Given the description of an element on the screen output the (x, y) to click on. 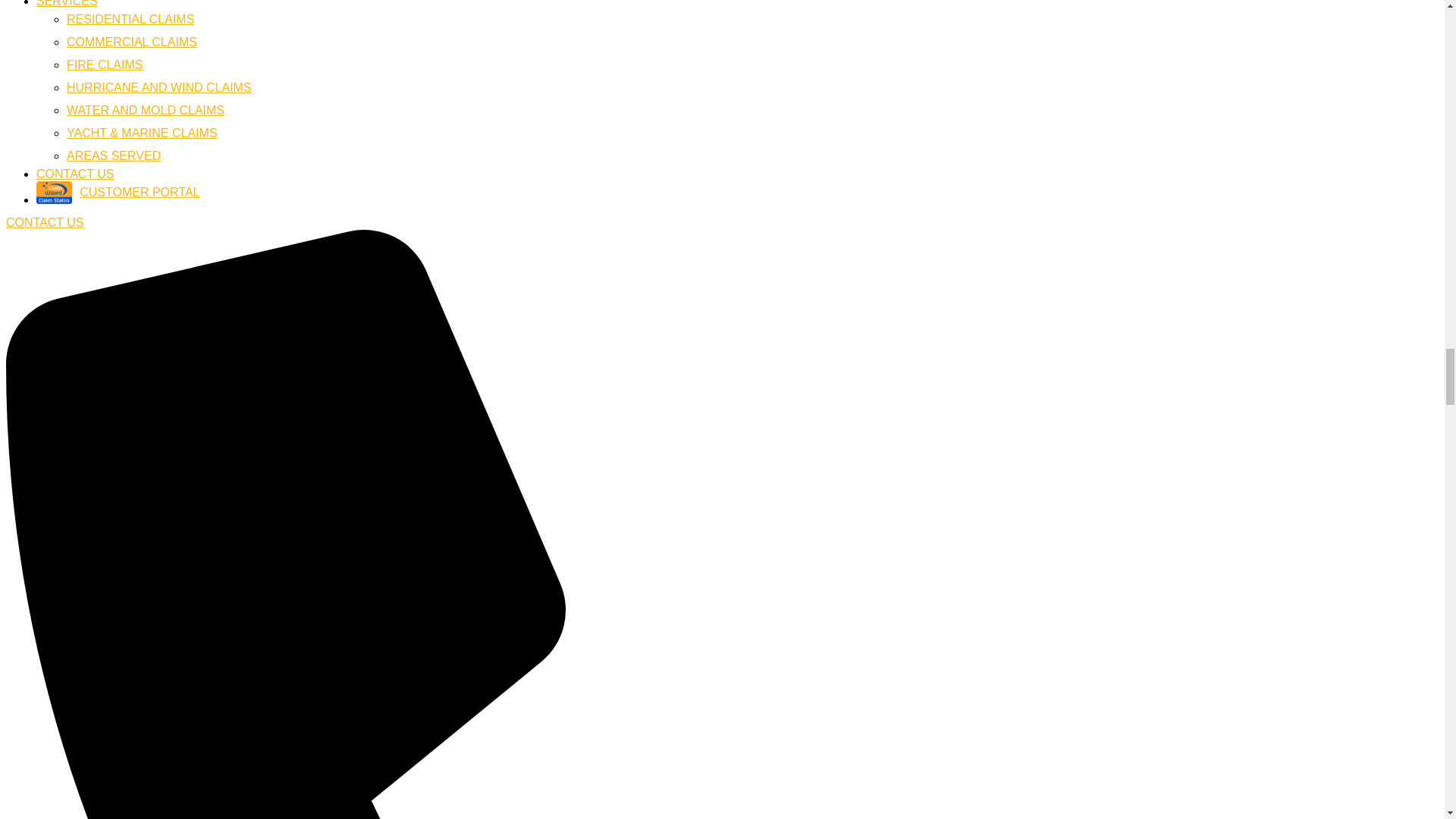
CONTACT US (75, 173)
WATER AND MOLD CLAIMS (145, 110)
CONTACT US (44, 222)
FIRE CLAIMS (104, 64)
RESIDENTIAL CLAIMS (129, 19)
COMMERCIAL CLAIMS (131, 42)
SERVICES (66, 3)
HURRICANE AND WIND CLAIMS (158, 87)
AREAS SERVED (113, 155)
